Given the description of an element on the screen output the (x, y) to click on. 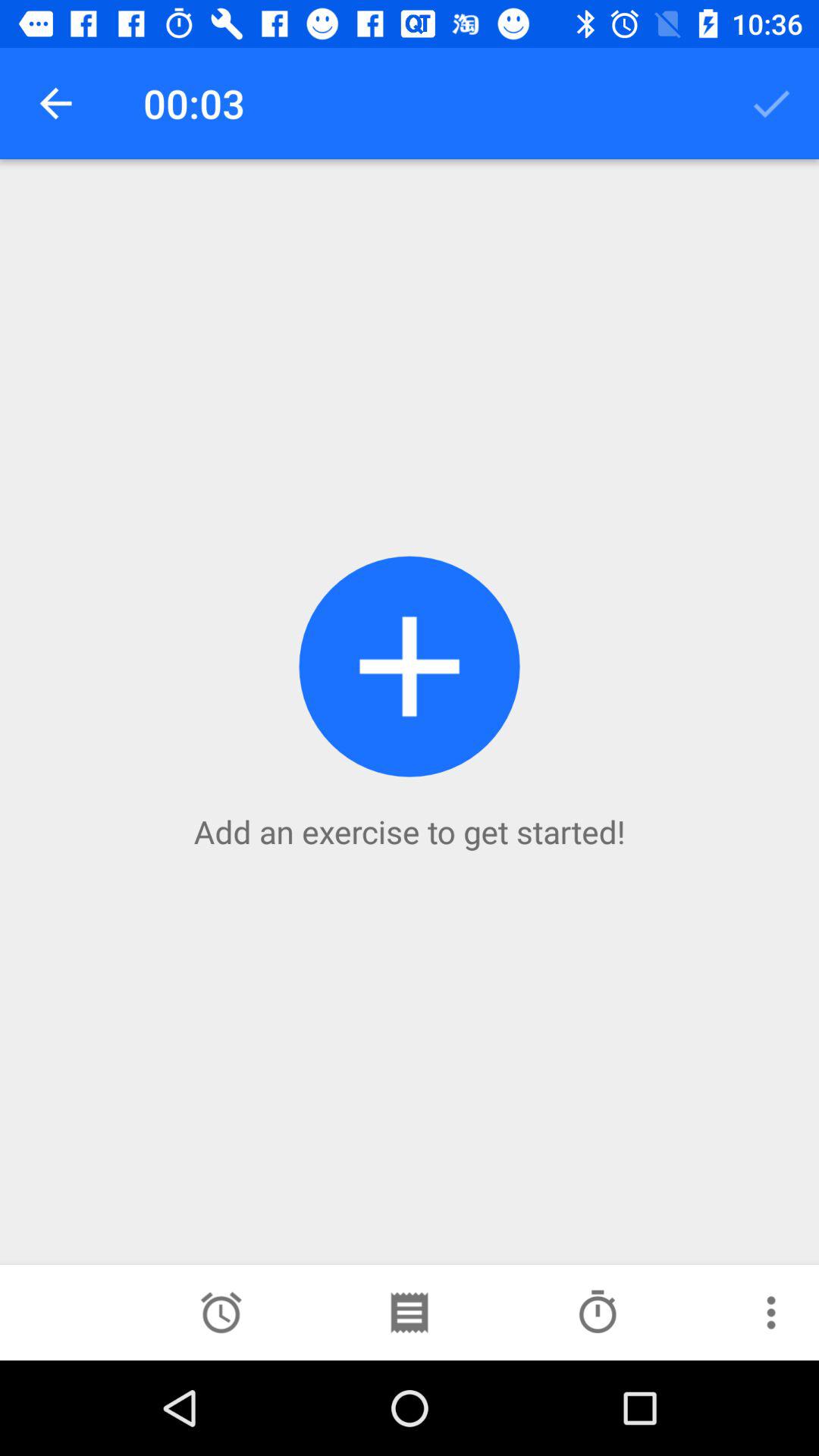
click the item at the top right corner (771, 103)
